Given the description of an element on the screen output the (x, y) to click on. 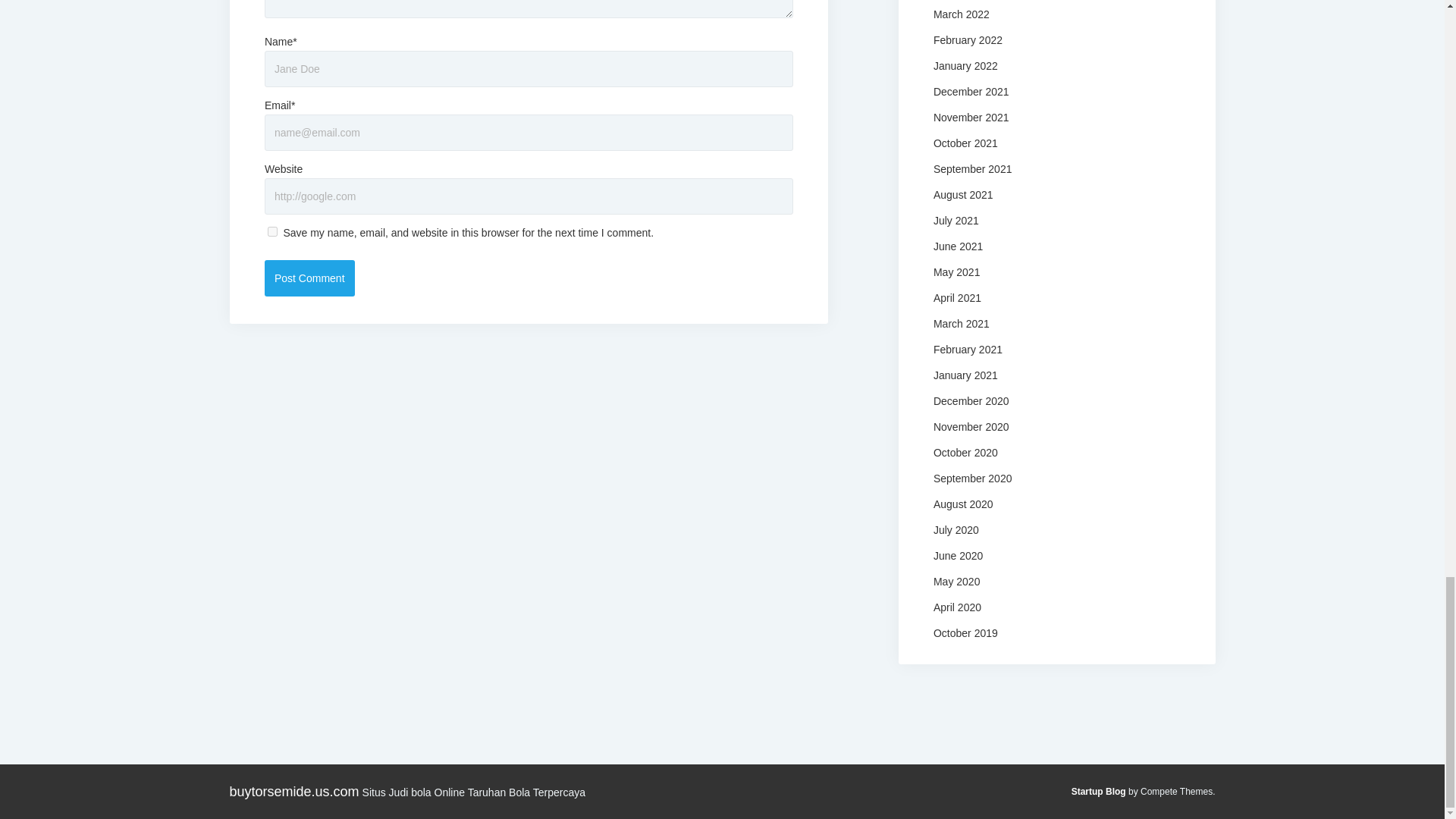
yes (272, 231)
Post Comment (309, 278)
Post Comment (309, 278)
